Given the description of an element on the screen output the (x, y) to click on. 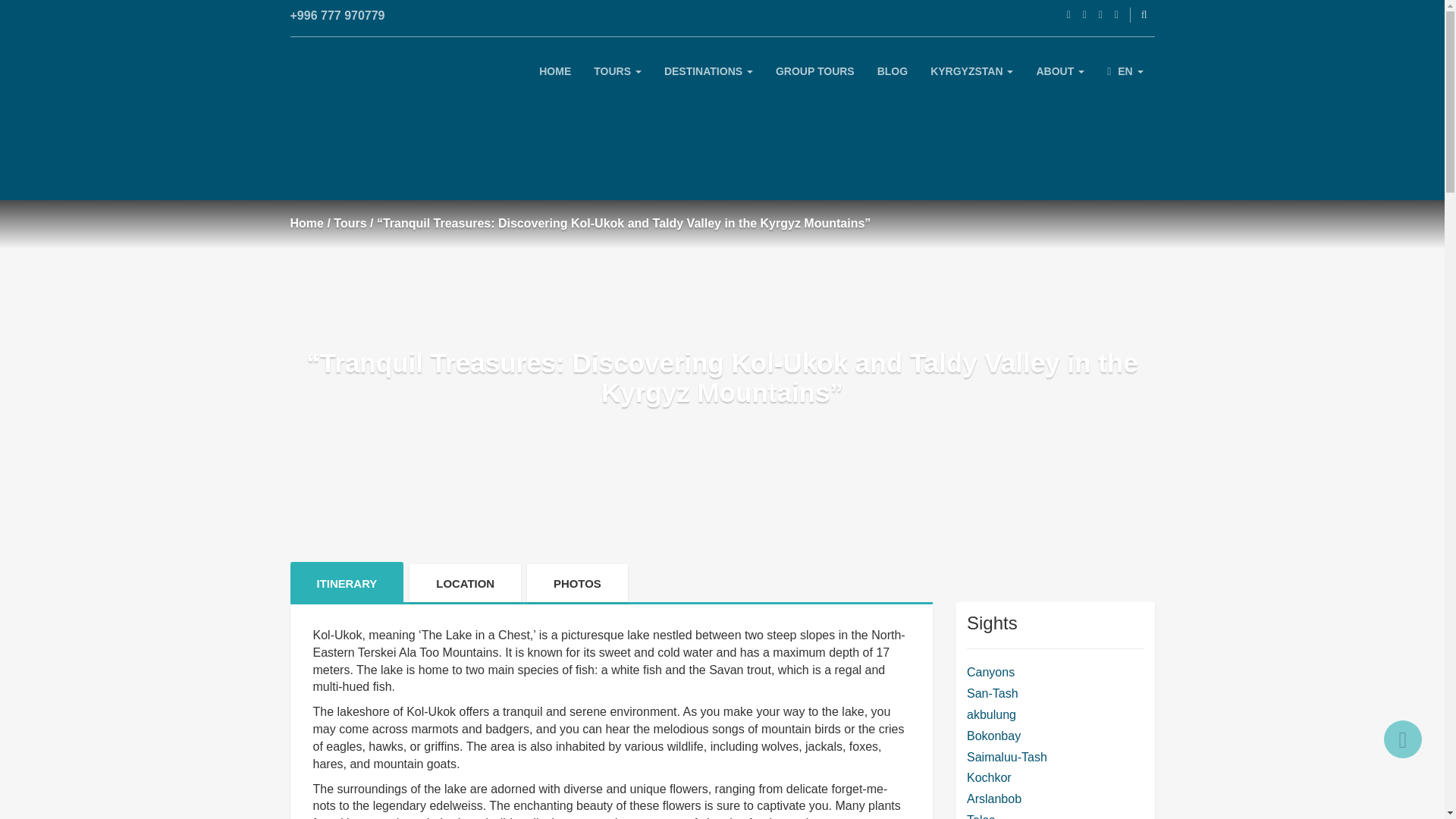
Kyrgyzstan (971, 78)
ABOUT (1060, 78)
DESTINATIONS (708, 78)
HOME (554, 78)
BLOG (892, 78)
GROUP TOURS (815, 78)
KYRGYZSTAN (971, 78)
TOURS (617, 78)
About (1060, 78)
